Given the description of an element on the screen output the (x, y) to click on. 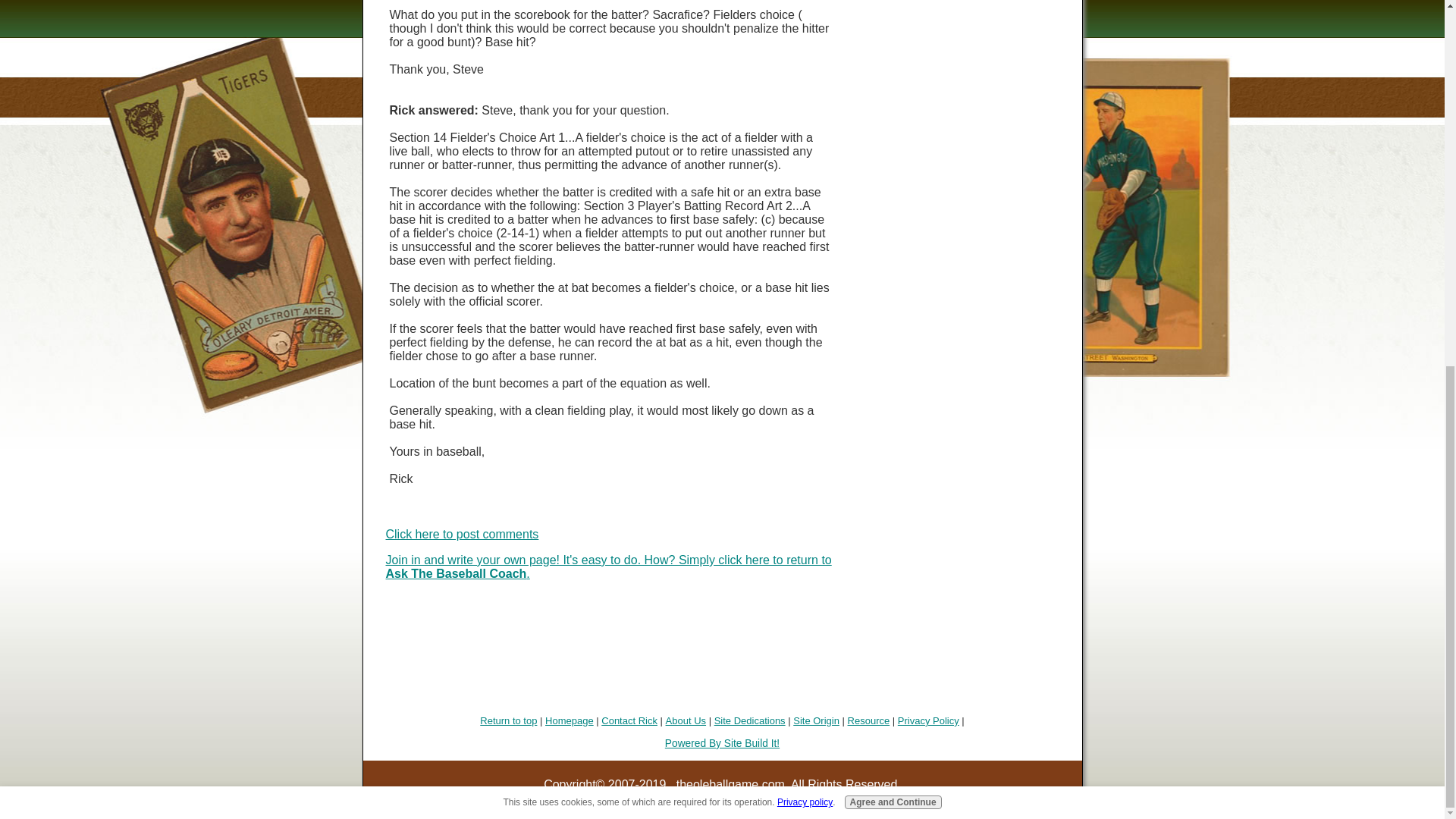
Return to top (508, 720)
About Us (685, 720)
Powered By Site Build It! (721, 743)
Privacy Policy (928, 720)
Site Dedications (750, 720)
Click here to post comments (461, 533)
Site Origin (816, 720)
Contact Rick (629, 720)
Homepage (569, 720)
Resource (868, 720)
